Given the description of an element on the screen output the (x, y) to click on. 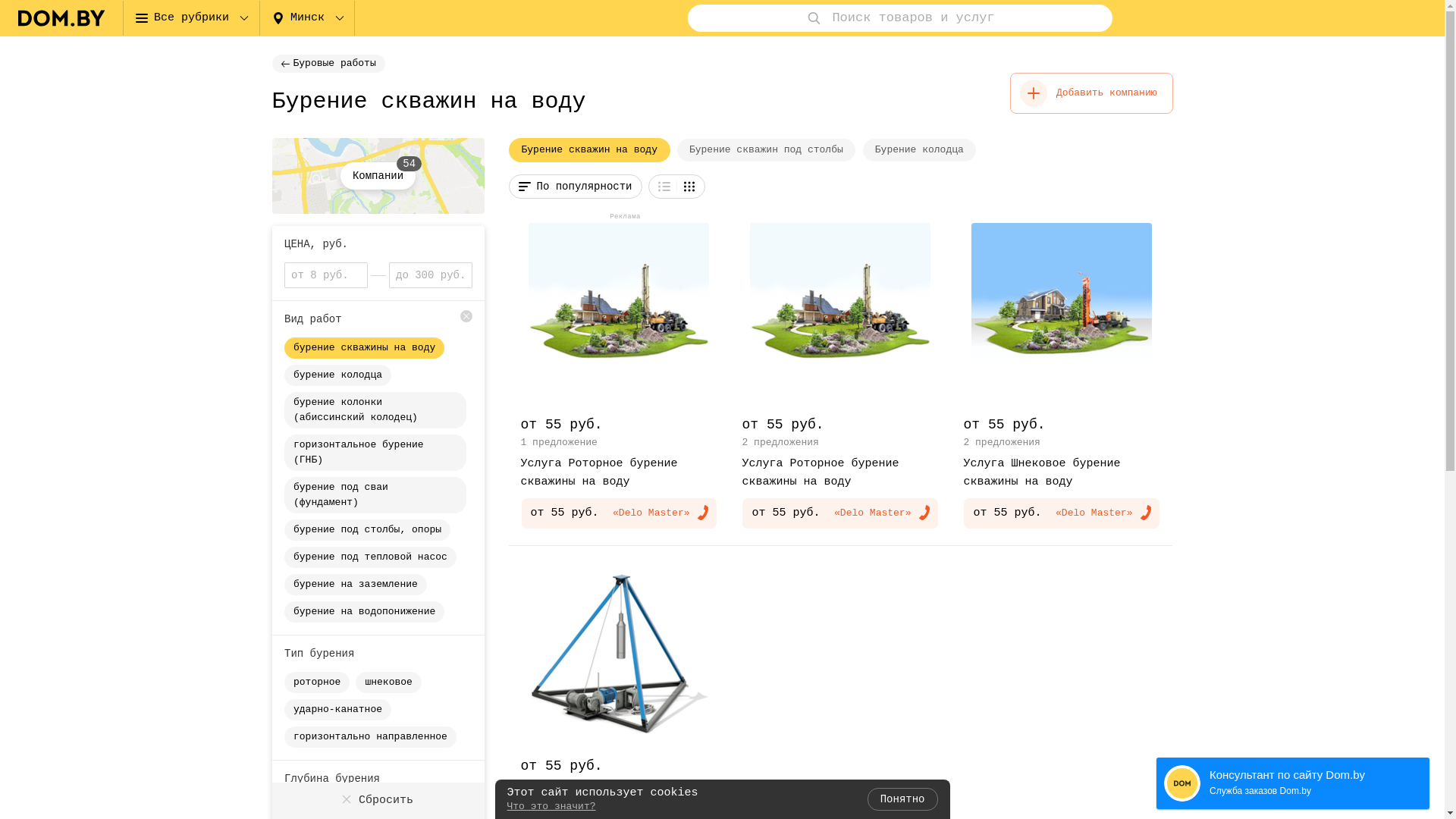
logo Element type: hover (61, 18)
